Given the description of an element on the screen output the (x, y) to click on. 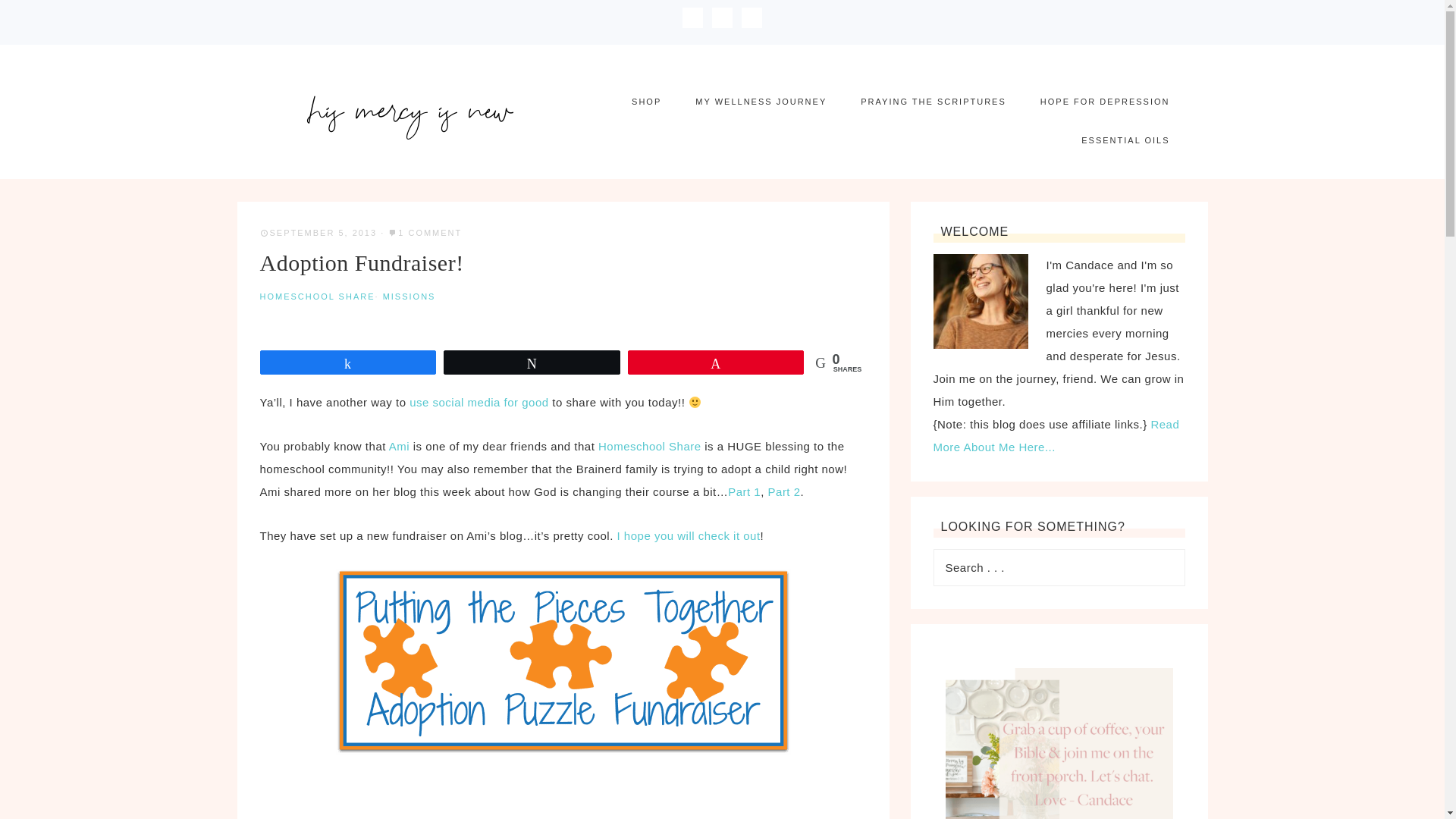
SHOP (646, 101)
HOMESCHOOL SHARE (316, 296)
1 COMMENT (429, 232)
I hope you will check it out (688, 535)
HOPE FOR DEPRESSION (1105, 101)
Part 1 (744, 491)
Homeschool Share (649, 445)
Read More About Me Here... (1056, 435)
use social media for good (478, 401)
HIS MERCY IS NEW (410, 110)
Part 2 (784, 491)
MISSIONS (408, 296)
PRAYING THE SCRIPTURES (933, 101)
MY WELLNESS JOURNEY (760, 101)
